Given the description of an element on the screen output the (x, y) to click on. 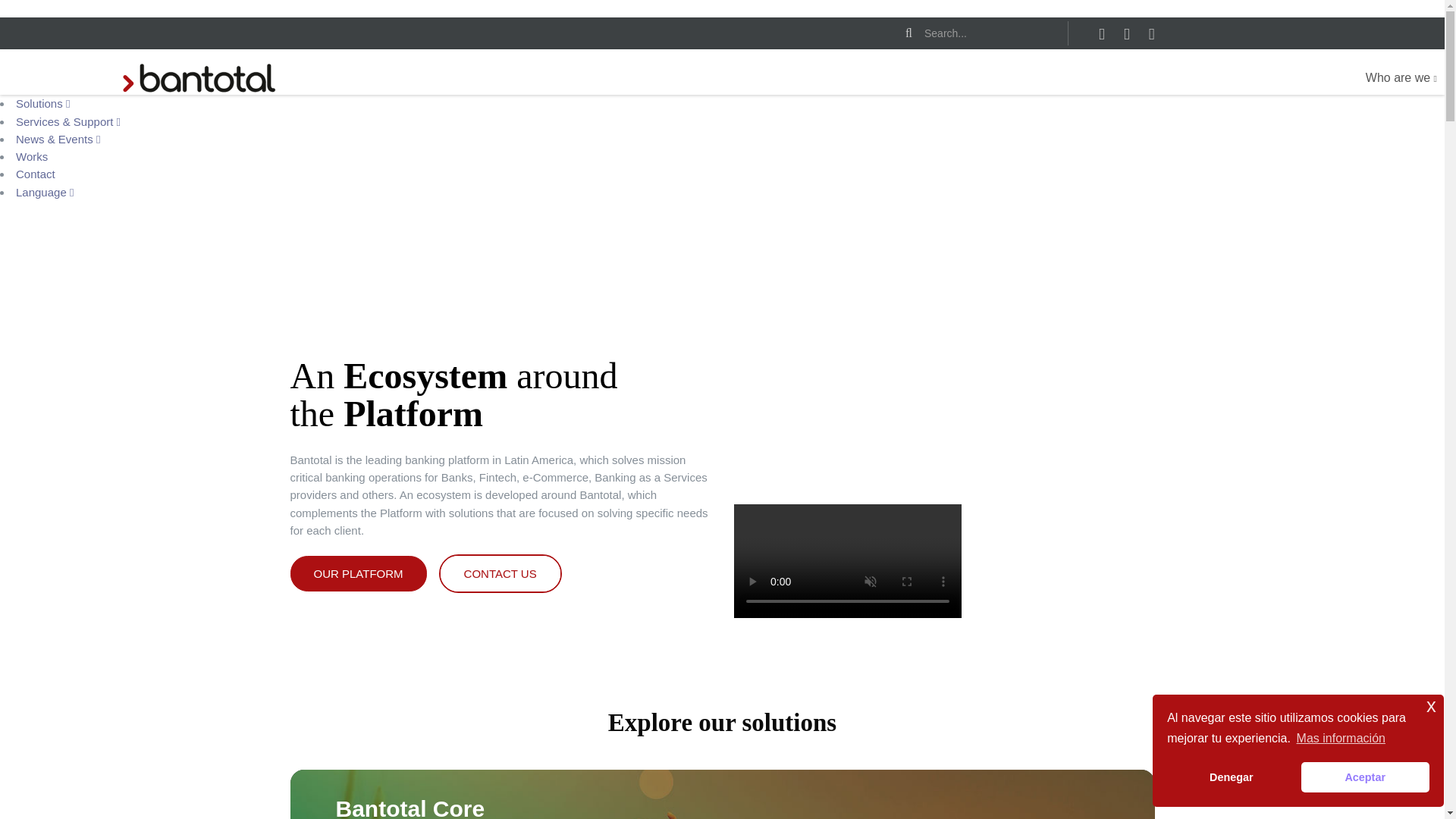
Contact (35, 173)
Language (45, 191)
Who are we (1401, 78)
Solutions (42, 103)
Works (32, 155)
